Given the description of an element on the screen output the (x, y) to click on. 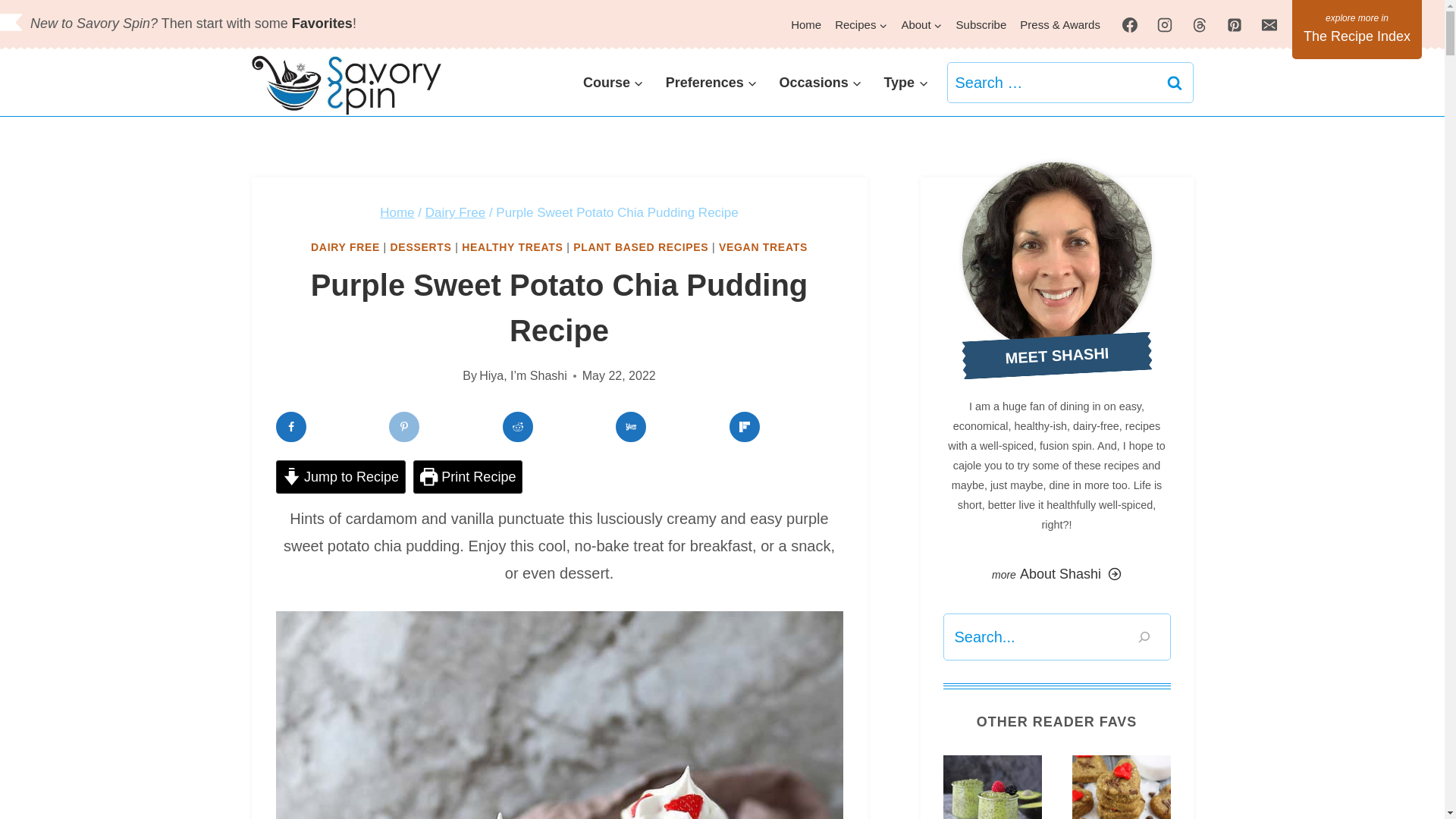
Share on Reddit (517, 426)
Share on Flipboard (744, 426)
Home (806, 24)
Share on Facebook (290, 426)
Save to Pinterest (403, 426)
Favorites (322, 23)
Search (1174, 82)
Recipes (860, 24)
Search (1174, 82)
Share on Yummly (630, 426)
